Given the description of an element on the screen output the (x, y) to click on. 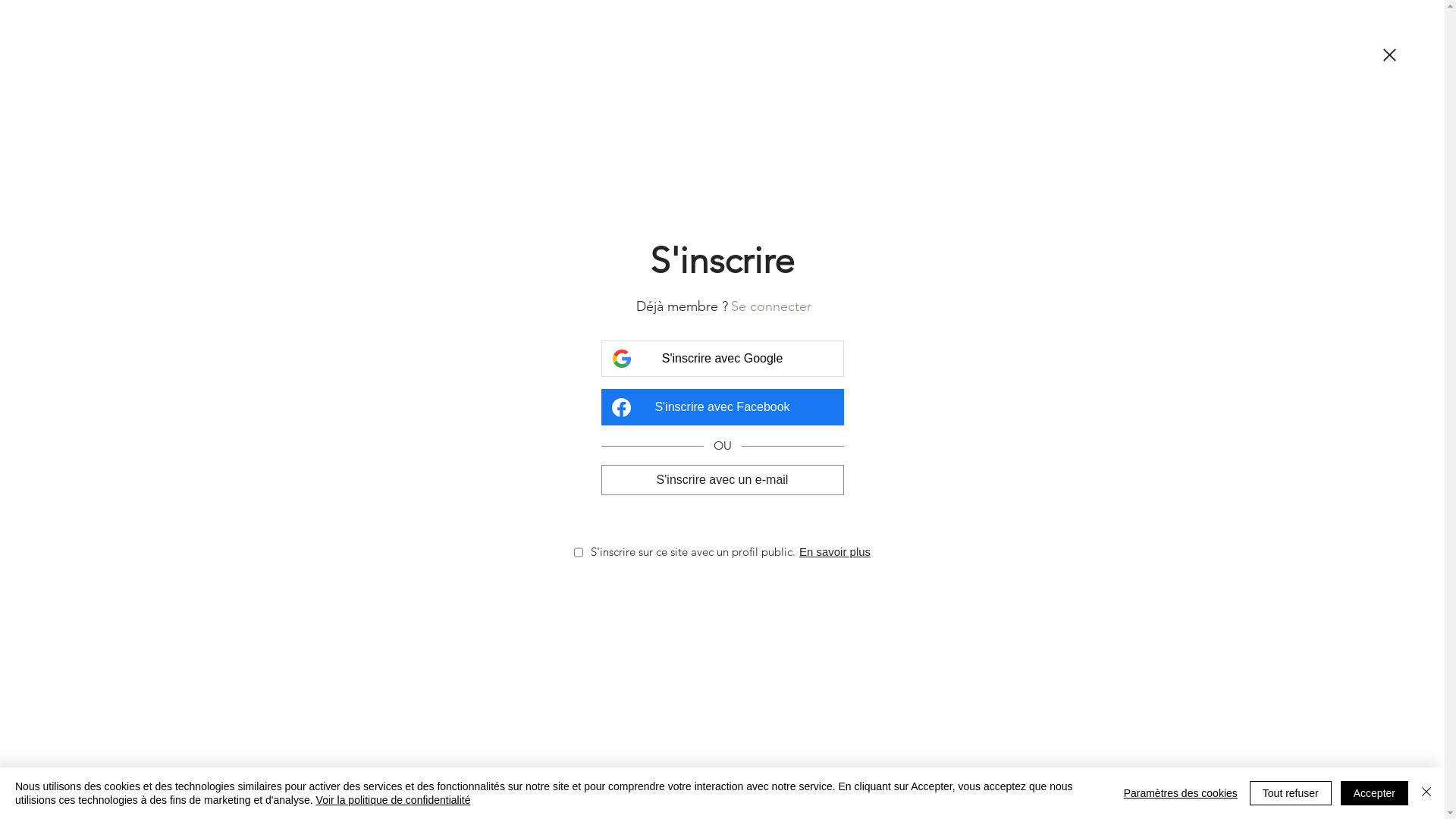
Se connecter Element type: text (771, 306)
Accepter Element type: text (1374, 793)
S'inscrire avec Facebook Element type: text (721, 407)
S'inscrire avec un e-mail Element type: text (721, 479)
S'inscrire avec Google Element type: text (721, 358)
Tout refuser Element type: text (1290, 793)
En savoir plus Element type: text (834, 551)
